Given the description of an element on the screen output the (x, y) to click on. 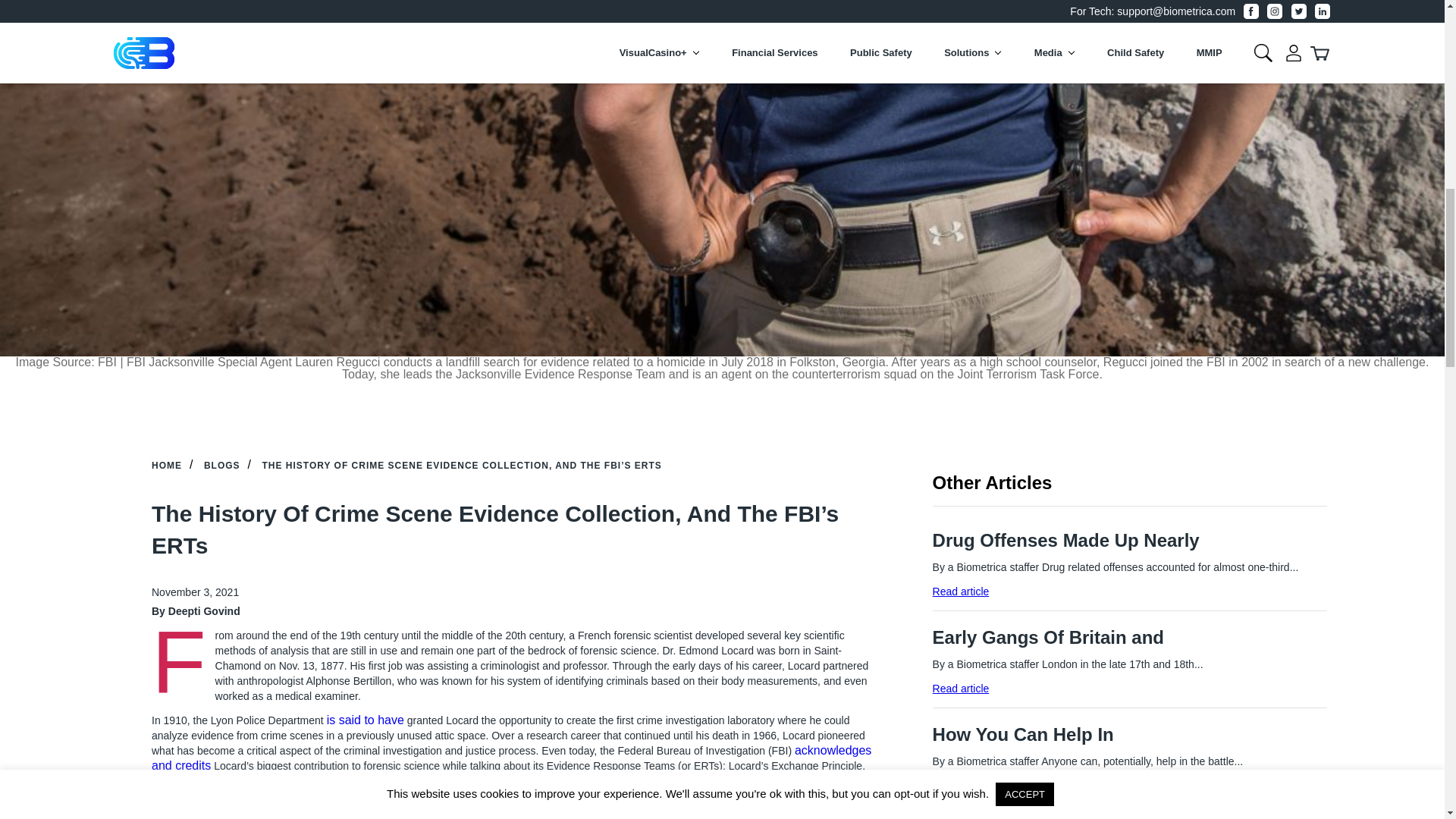
is said to have (365, 719)
acknowledges and credits (510, 757)
BLOGS (221, 465)
HOME (166, 465)
